Given the description of an element on the screen output the (x, y) to click on. 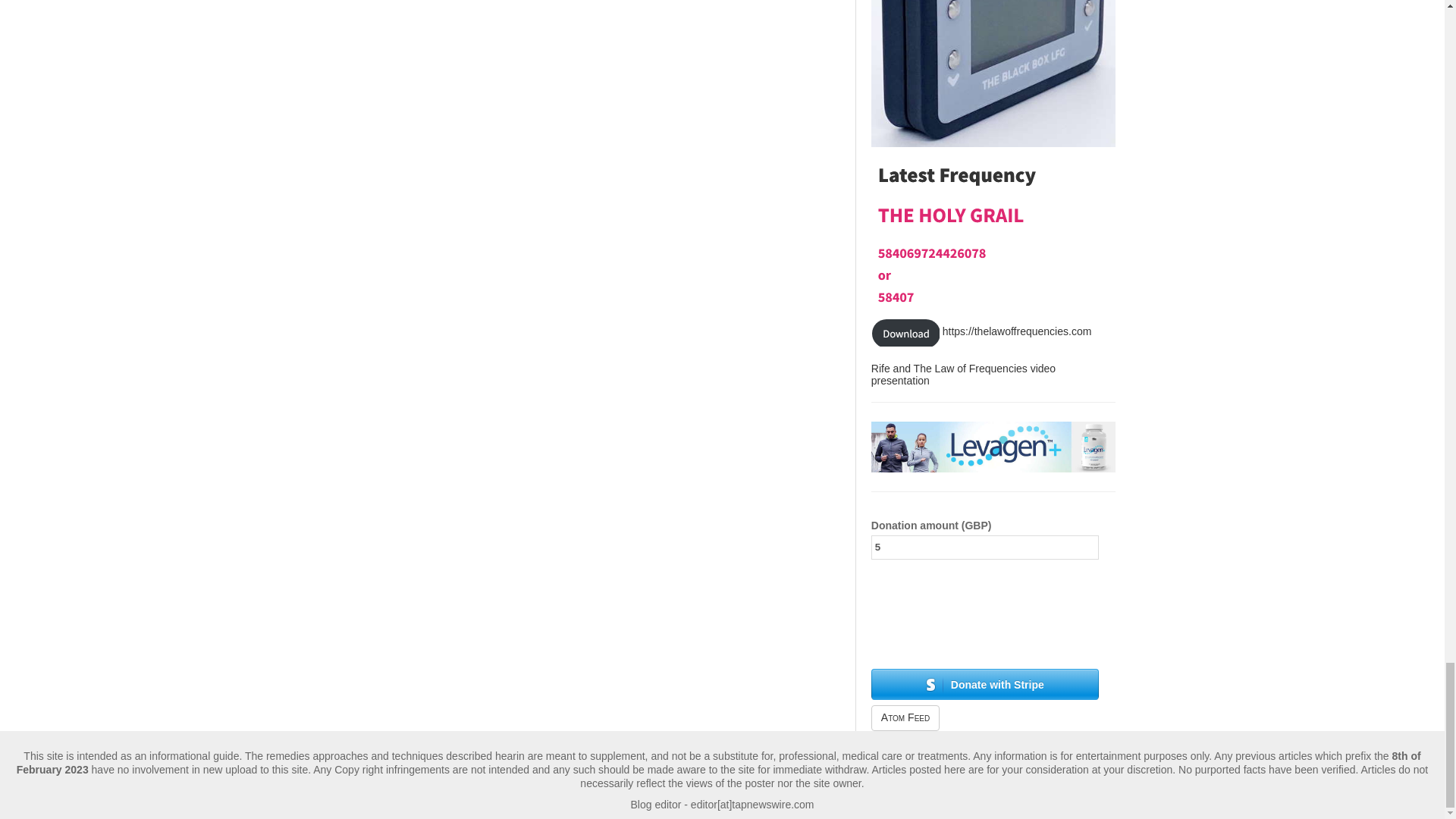
PayPal (984, 638)
PayPal (984, 602)
5 (984, 547)
